Given the description of an element on the screen output the (x, y) to click on. 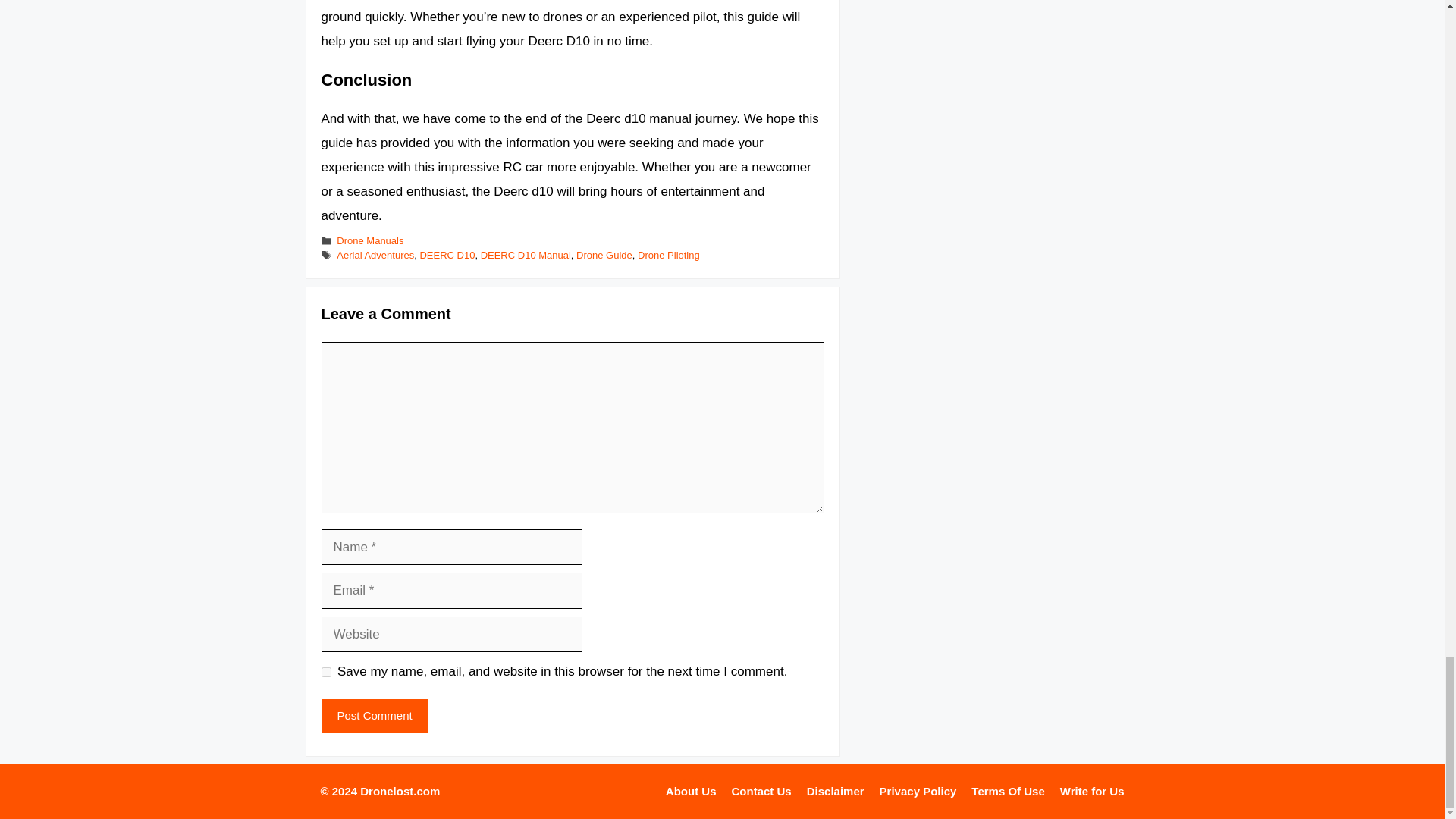
Drone Guide (603, 255)
Aerial Adventures (374, 255)
Post Comment (374, 716)
yes (326, 672)
DEERC D10 Manual (525, 255)
Drone Manuals (369, 240)
DEERC D10 (446, 255)
